Given the description of an element on the screen output the (x, y) to click on. 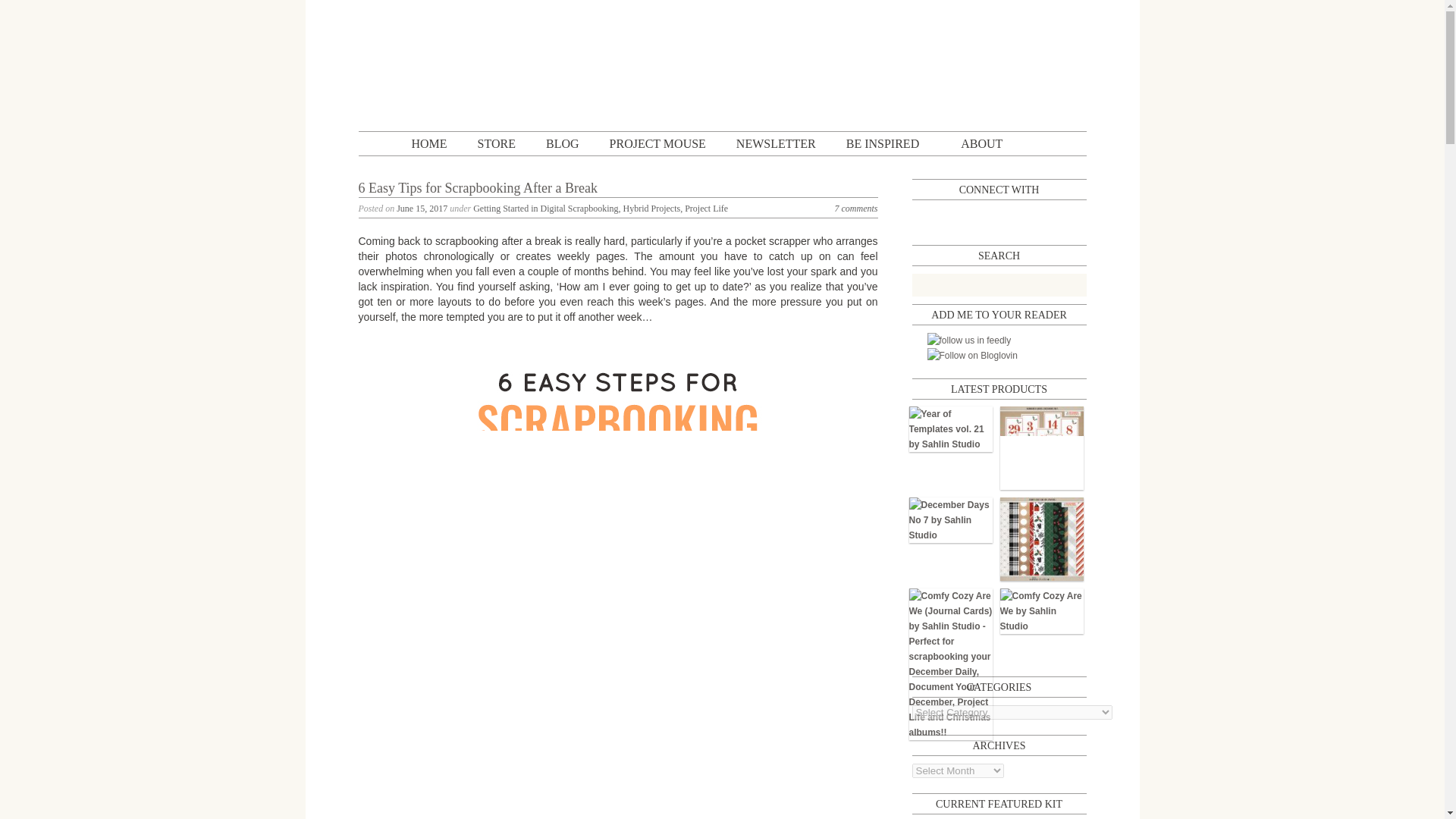
Getting Started in Digital Scrapbooking (545, 208)
6 Easy Tips for Scrapbooking After a Break (477, 187)
STORE (496, 142)
NEWSLETTER (775, 142)
Year of Templates Vol. 21 (949, 429)
BE INSPIRED (881, 142)
7 comments (855, 208)
HOME (428, 142)
Project Life (706, 208)
December Days No. 7 (949, 519)
PROJECT MOUSE (658, 142)
ABOUT (981, 142)
Search (1071, 285)
Hybrid Projects (651, 208)
6 Easy Tips for Scrapbooking After a Break (477, 187)
